Given the description of an element on the screen output the (x, y) to click on. 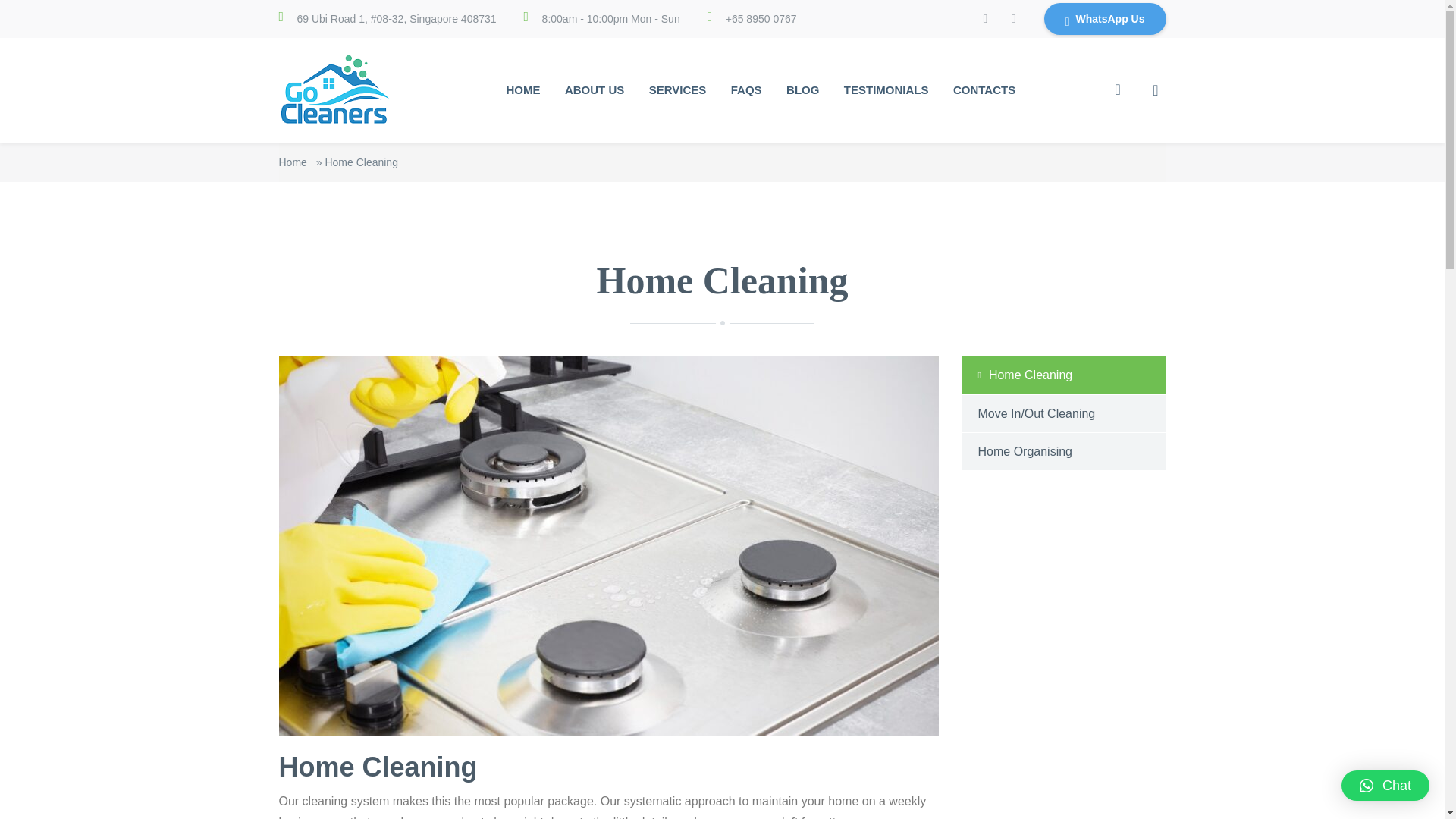
ABOUT US (594, 89)
Home Organising (1063, 451)
Home (293, 162)
FAQS (746, 89)
HOME (522, 89)
Chat (1384, 785)
Home Cleaning (1063, 374)
CONTACTS (983, 89)
TESTIMONIALS (885, 89)
SERVICES (678, 89)
